Given the description of an element on the screen output the (x, y) to click on. 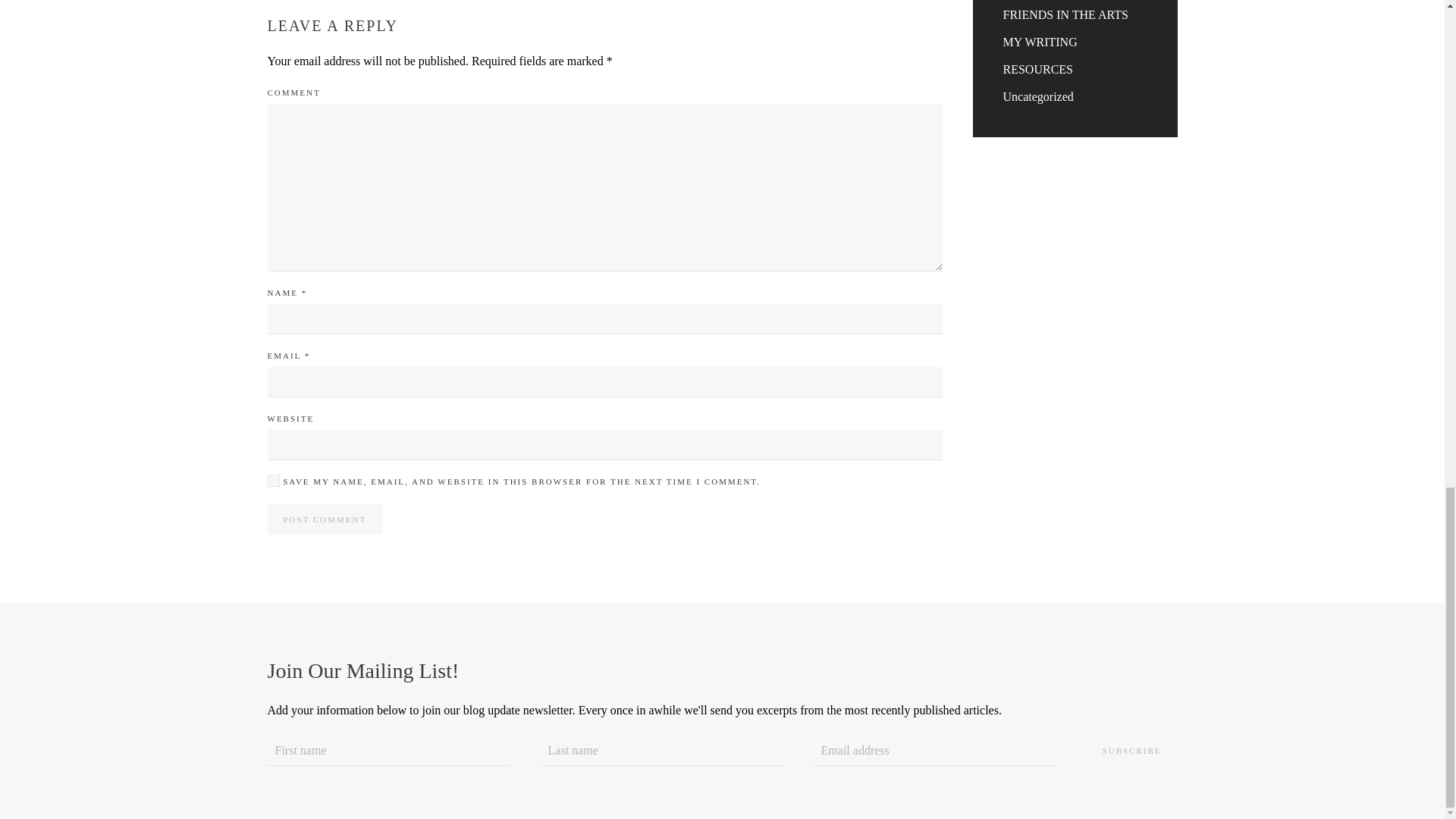
POST COMMENT (323, 519)
yes (272, 480)
